Given the description of an element on the screen output the (x, y) to click on. 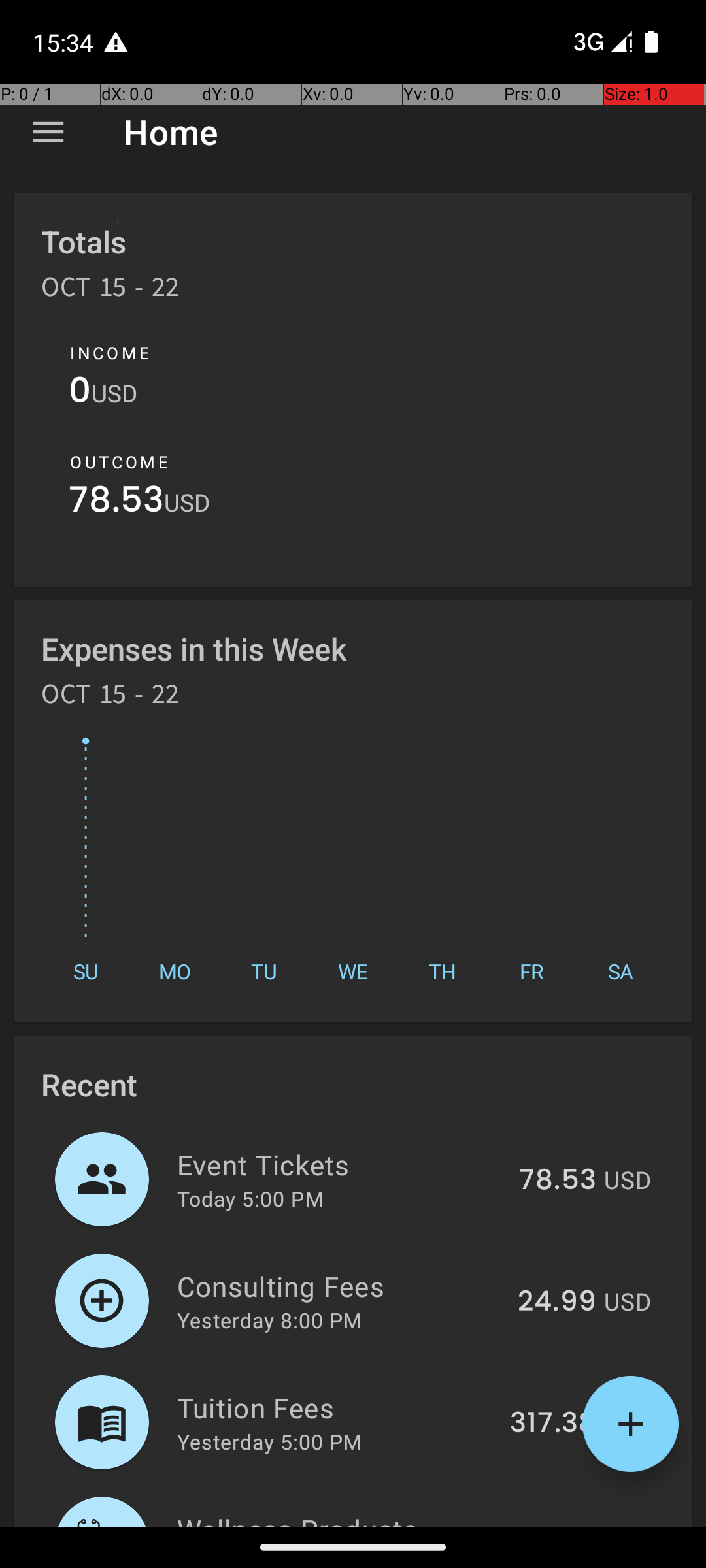
78.53 Element type: android.widget.TextView (116, 502)
Event Tickets Element type: android.widget.TextView (340, 1164)
Today 5:00 PM Element type: android.widget.TextView (250, 1198)
Consulting Fees Element type: android.widget.TextView (339, 1285)
Yesterday 8:00 PM Element type: android.widget.TextView (269, 1320)
24.99 Element type: android.widget.TextView (556, 1301)
Tuition Fees Element type: android.widget.TextView (335, 1407)
Yesterday 5:00 PM Element type: android.widget.TextView (269, 1441)
317.38 Element type: android.widget.TextView (552, 1423)
Wellness Products Element type: android.widget.TextView (329, 1518)
499.89 Element type: android.widget.TextView (546, 1524)
